Given the description of an element on the screen output the (x, y) to click on. 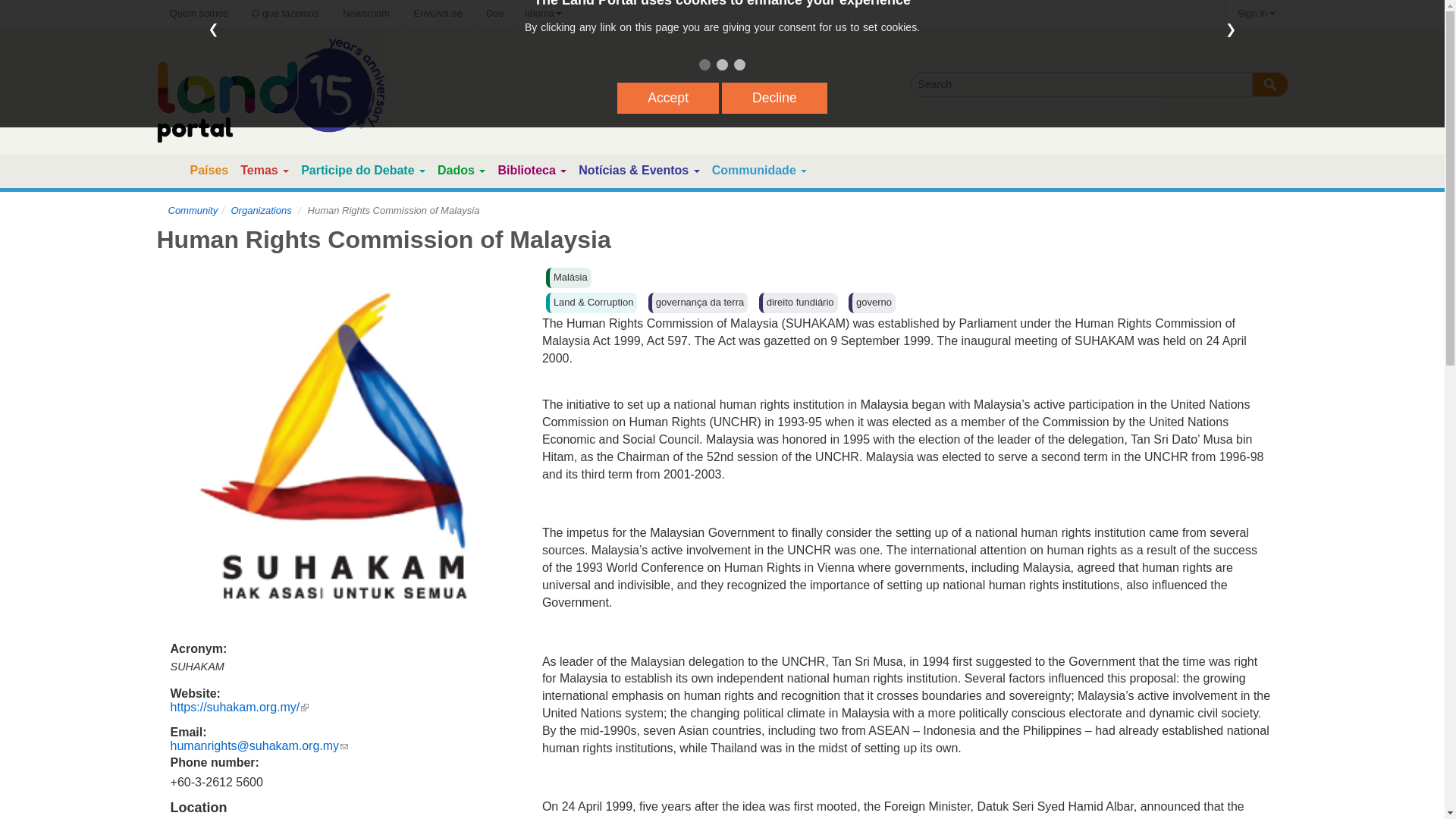
Sign in (1256, 13)
Accept (668, 97)
Decline (774, 97)
Envolva-se (437, 13)
Temas (259, 169)
Search (1268, 84)
Quem somos (197, 13)
O que fazemos (285, 13)
O que fazemos (285, 13)
Doe (494, 13)
